Given the description of an element on the screen output the (x, y) to click on. 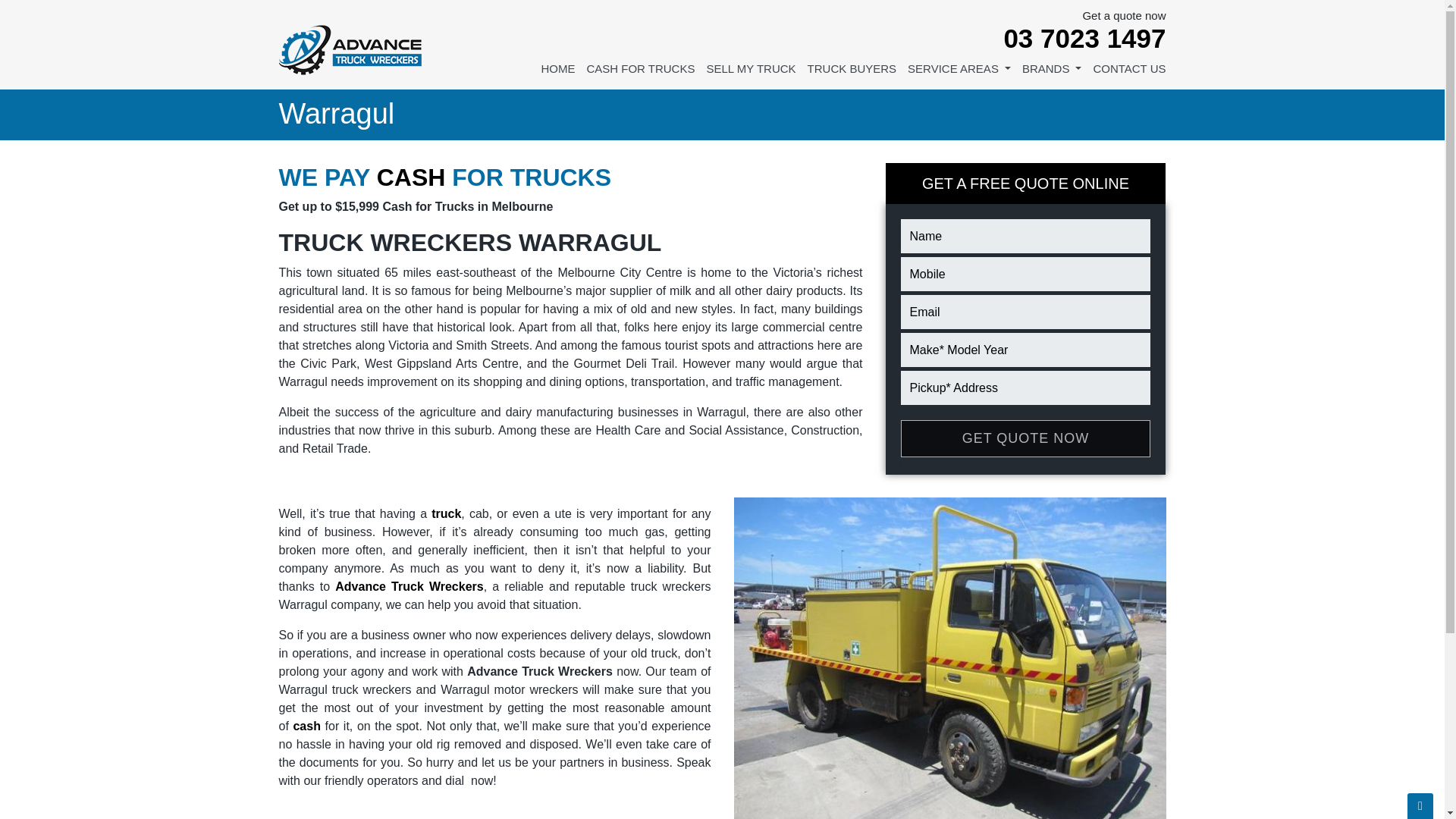
SELL MY TRUCK (750, 74)
SERVICE AREAS (958, 74)
Get Quote Now (1026, 438)
HOME (557, 74)
TRUCK BUYERS (852, 74)
CASH FOR TRUCKS (640, 74)
03 7023 1497 (1072, 37)
